Given the description of an element on the screen output the (x, y) to click on. 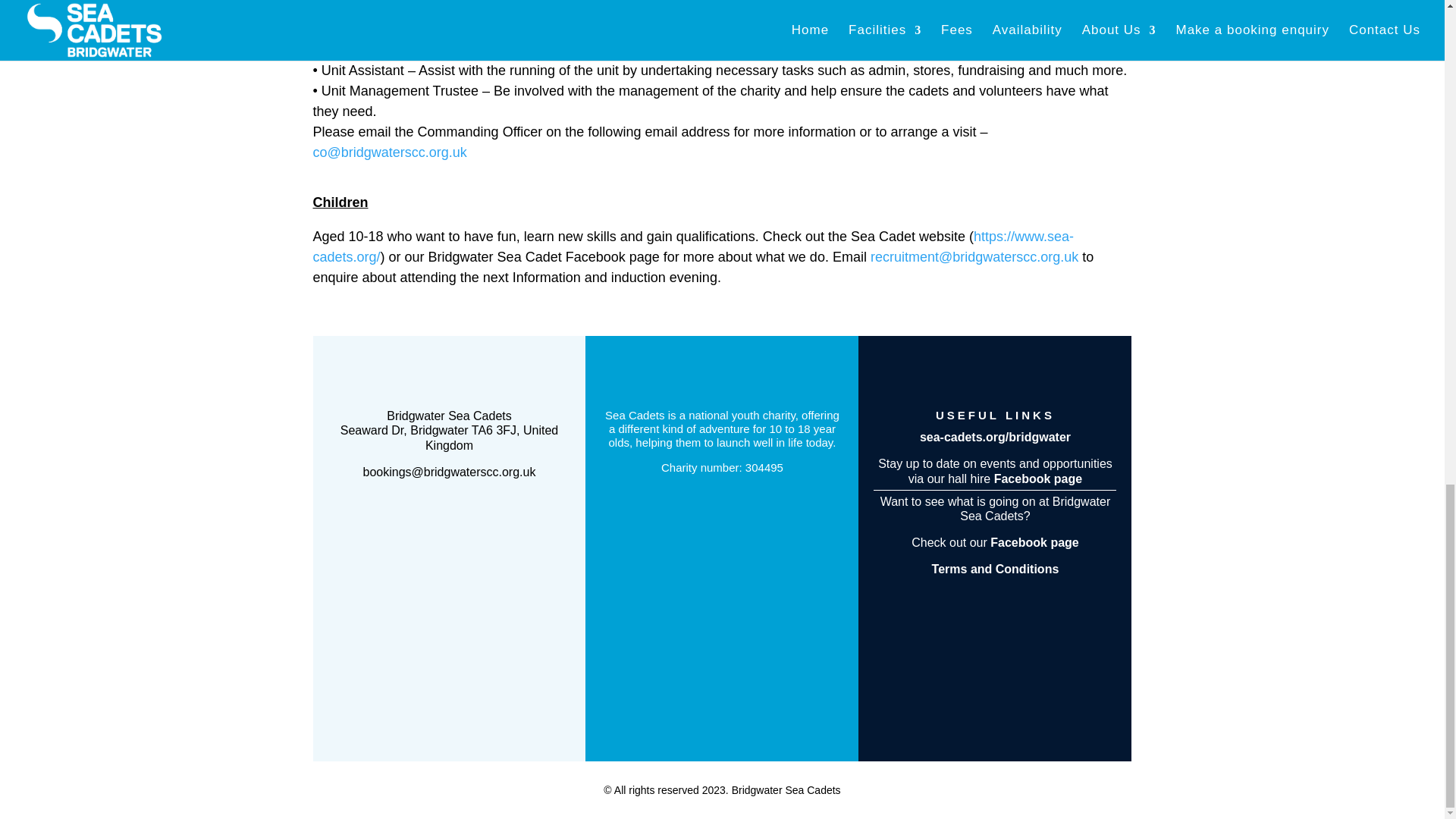
Check out our Facebook page (994, 542)
Want to see what is going on at Bridgwater Sea Cadets? (995, 508)
Bridgwater Sea Cadets (449, 415)
Terms and Conditions (995, 568)
Seaward Dr, Bridgwater TA6 3FJ, United Kingdom (449, 437)
Facebook page (1037, 478)
